Given the description of an element on the screen output the (x, y) to click on. 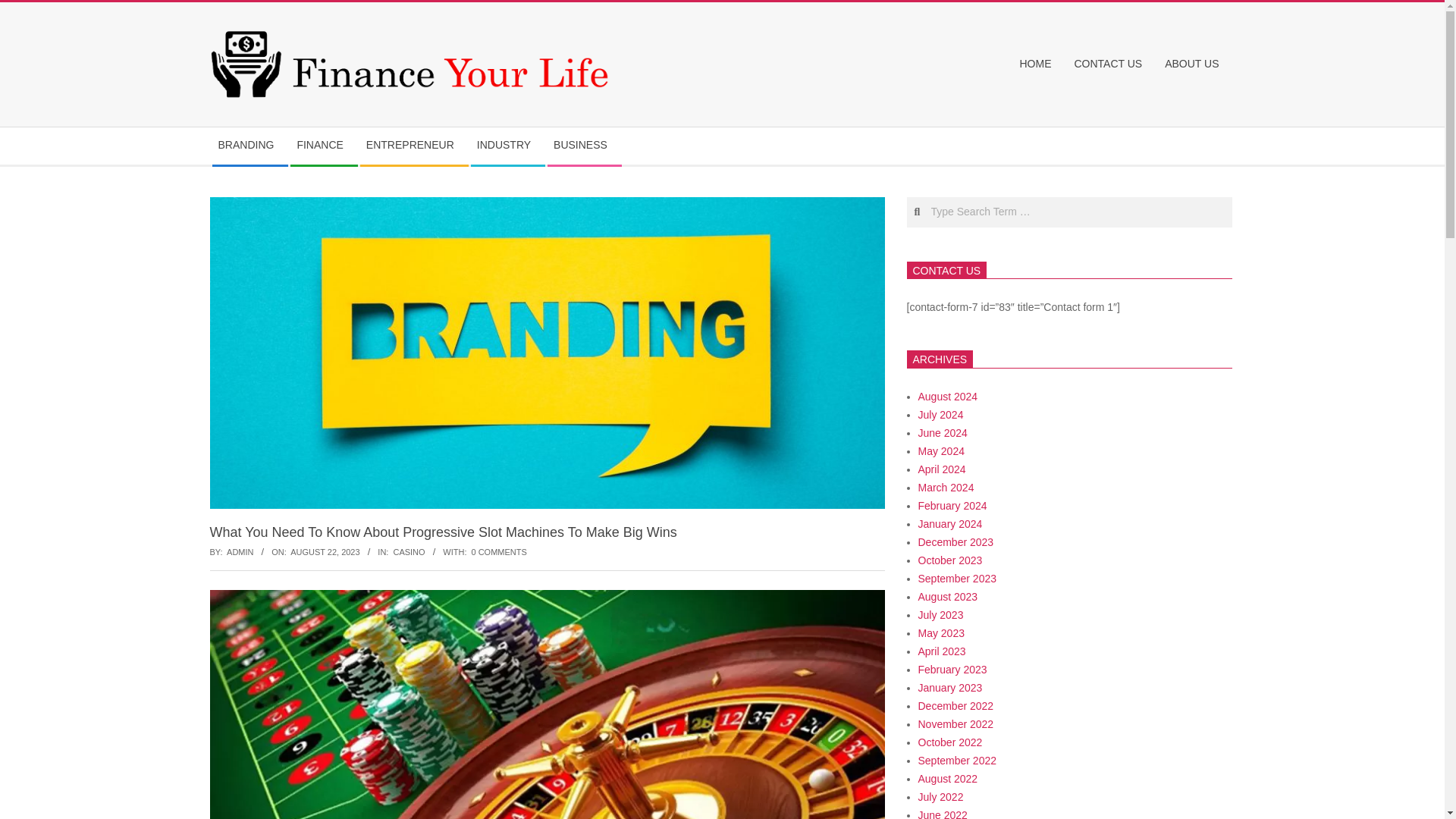
February 2024 (952, 505)
March 2024 (945, 487)
January 2023 (949, 687)
February 2023 (952, 669)
BRANDING (250, 145)
ABOUT US (1195, 63)
CASINO (409, 551)
December 2023 (954, 541)
October 2023 (949, 560)
0 COMMENTS (499, 551)
